Given the description of an element on the screen output the (x, y) to click on. 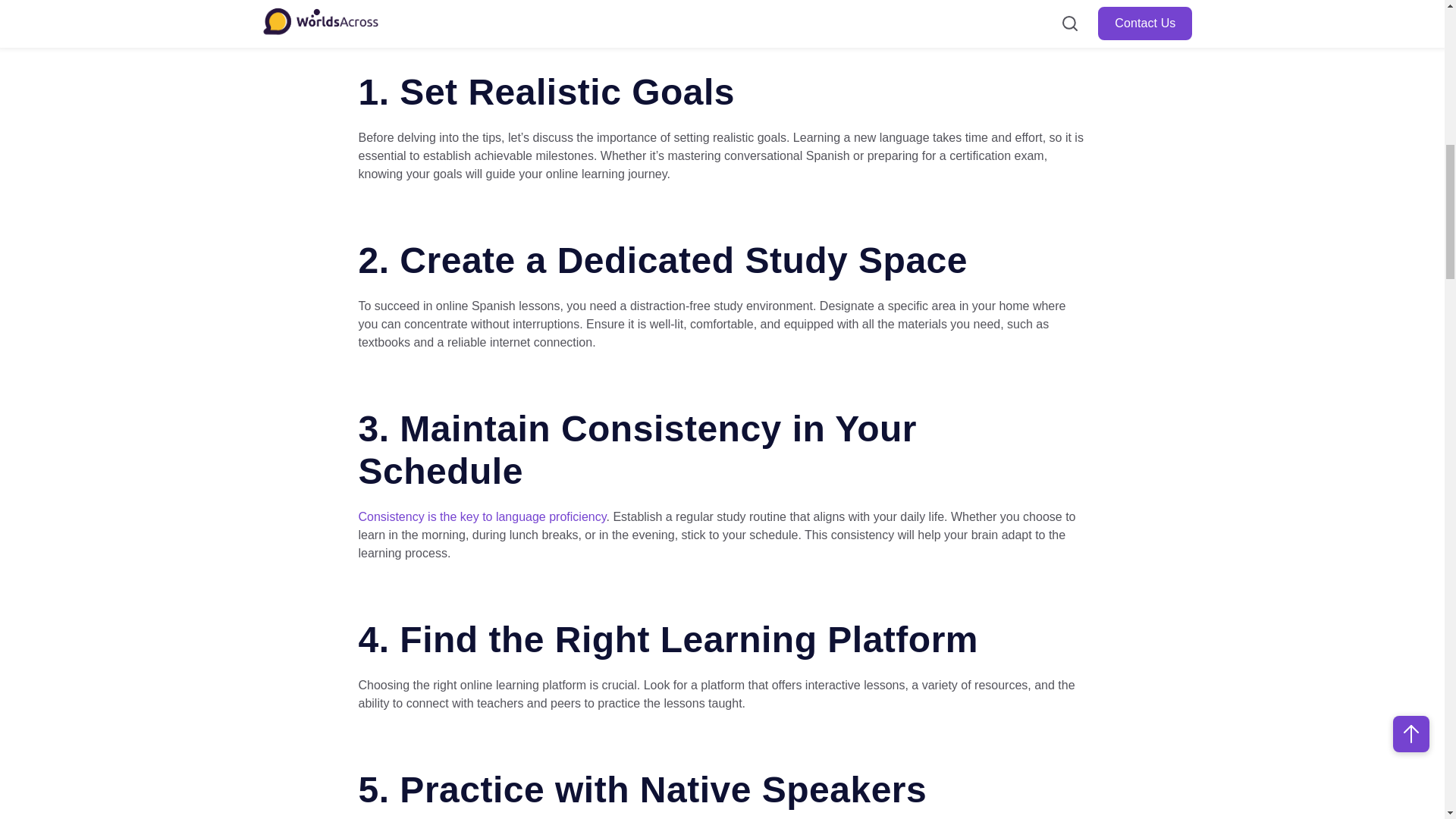
Consistency is the key to language proficiency (481, 516)
